Given the description of an element on the screen output the (x, y) to click on. 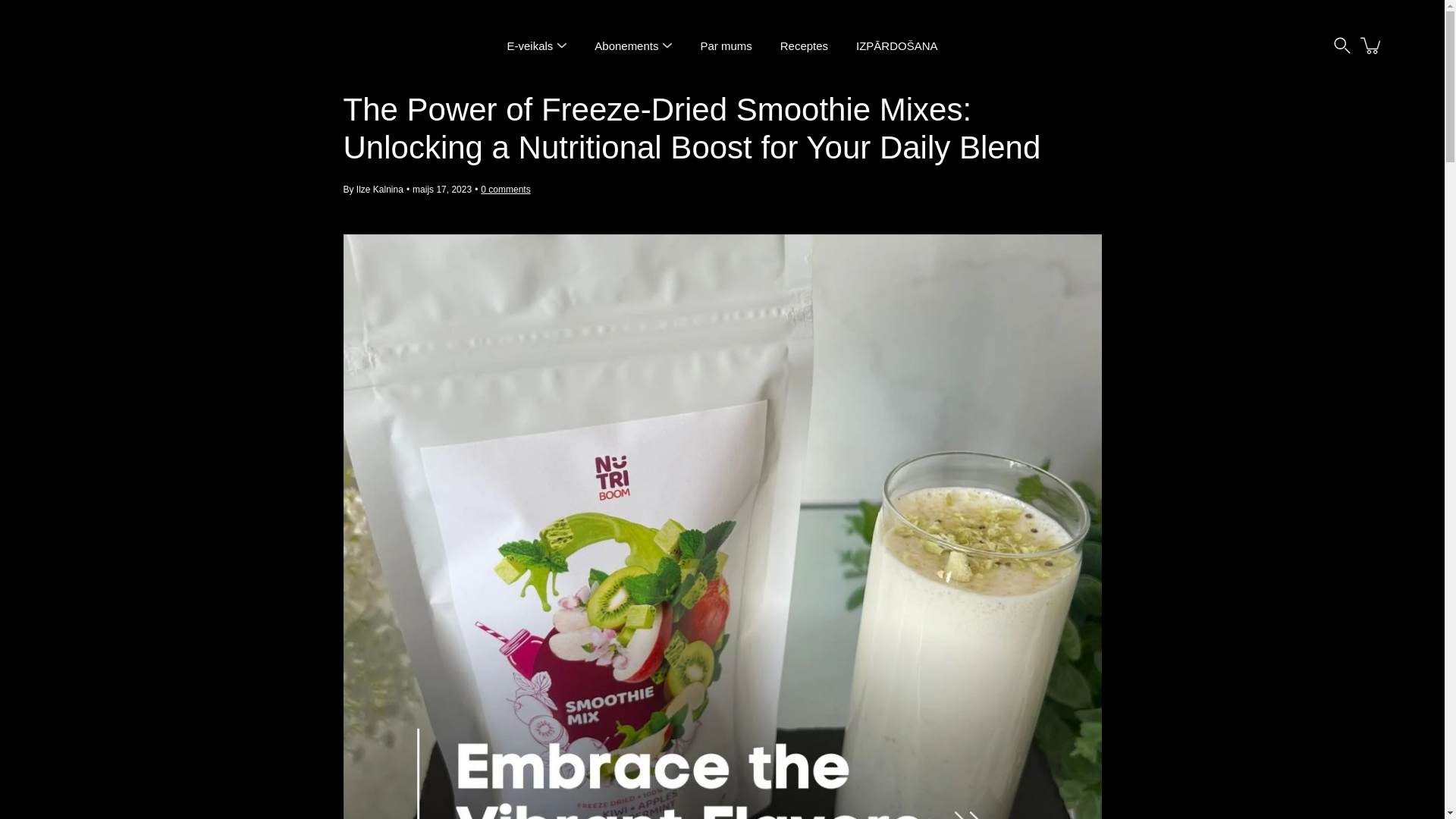
Abonements (626, 45)
Par mums (725, 45)
Receptes (804, 45)
Search (1342, 45)
E-veikals (529, 45)
